Given the description of an element on the screen output the (x, y) to click on. 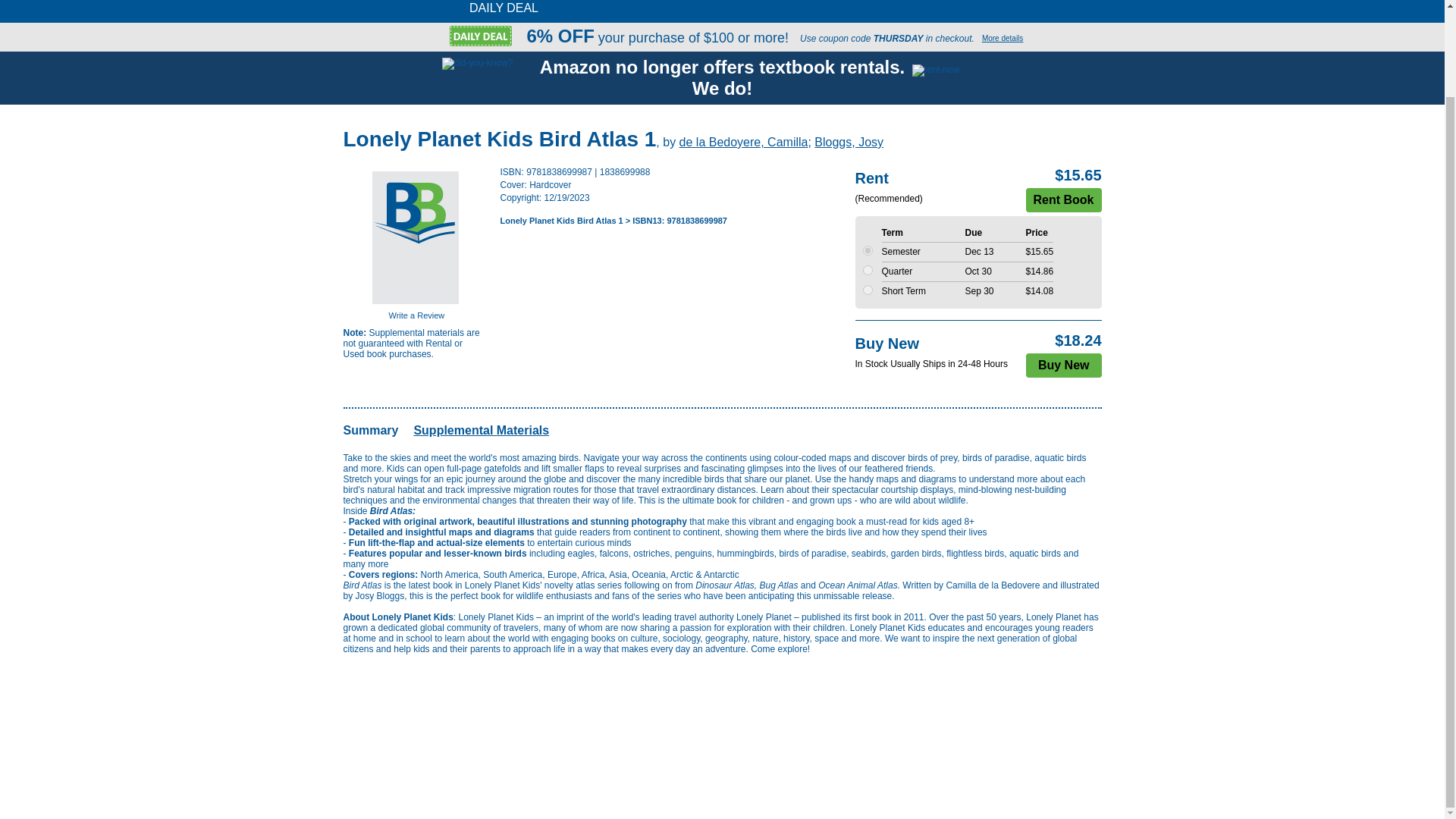
Write a Review (416, 315)
Rent Book (1062, 200)
de la Bedoyere, Camilla (743, 141)
Buy New (1064, 364)
Buy New (1064, 364)
Summary (369, 430)
Supplemental Materials (480, 430)
BUY TEXTBOOKS (630, 4)
SELL TEXTBOOKS (891, 4)
Lonely Planet Kids Bird Atlas 1 (561, 220)
More details (1002, 38)
Bloggs, Josy (848, 141)
rt90days (867, 270)
rt130days (867, 250)
